Given the description of an element on the screen output the (x, y) to click on. 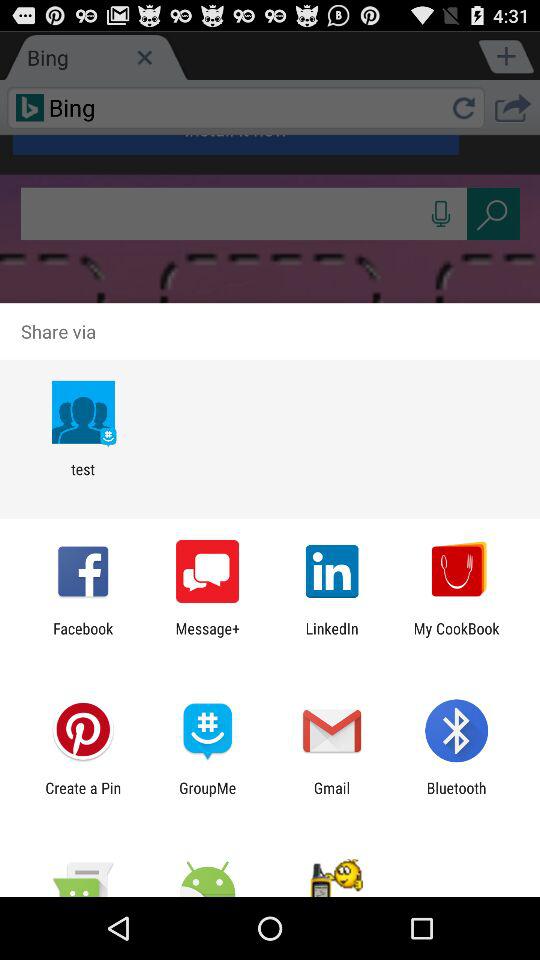
scroll to gmail icon (331, 796)
